Given the description of an element on the screen output the (x, y) to click on. 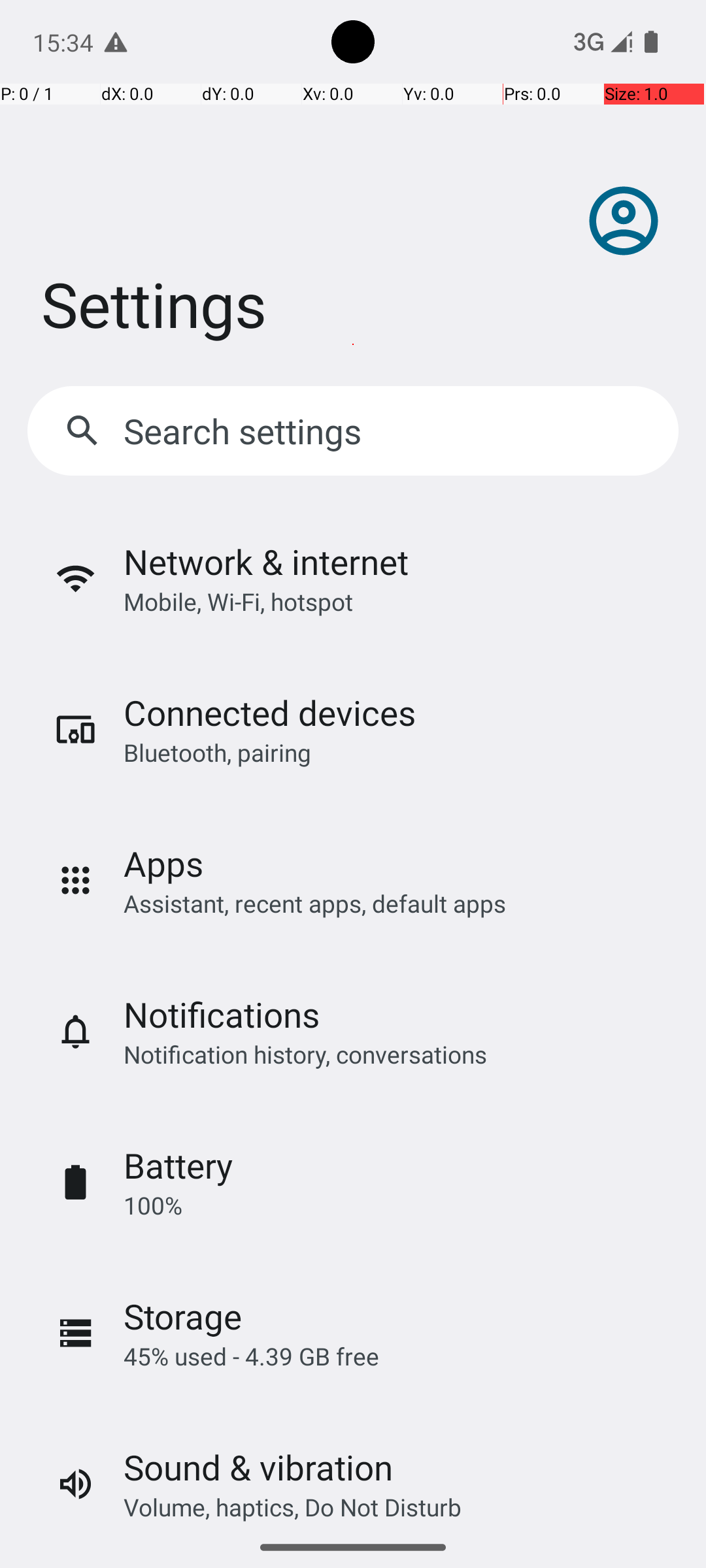
45% used - 4.39 GB free Element type: android.widget.TextView (251, 1355)
